Given the description of an element on the screen output the (x, y) to click on. 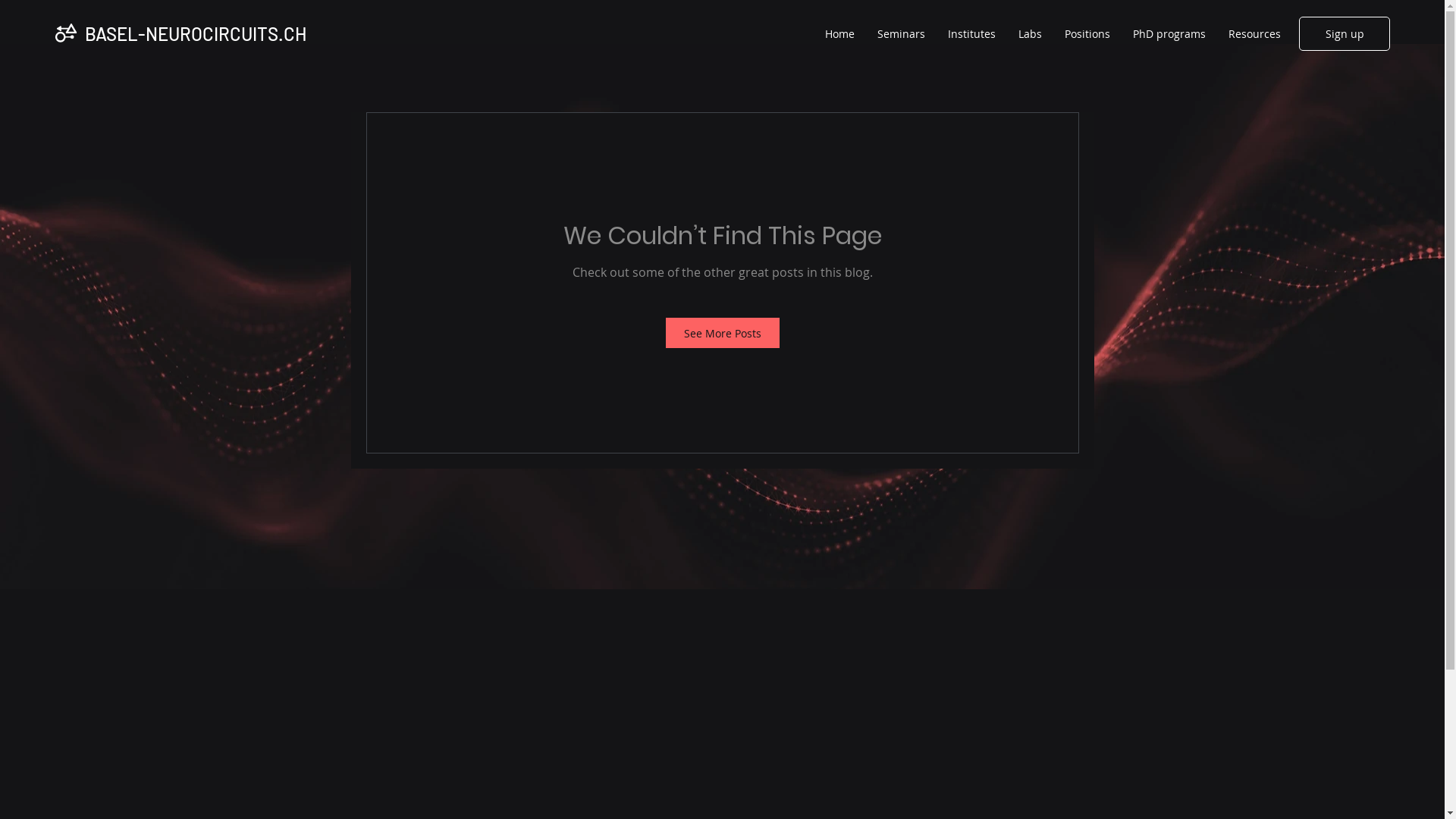
See More Posts Element type: text (722, 332)
Labs Element type: text (1030, 34)
Home Element type: text (839, 34)
PhD programs Element type: text (1169, 34)
BASEL-NEUROCIRCUITS.CH Element type: text (195, 33)
Institutes Element type: text (971, 34)
Positions Element type: text (1087, 34)
Seminars Element type: text (901, 34)
Sign up Element type: text (1344, 33)
Resources Element type: text (1254, 34)
